Given the description of an element on the screen output the (x, y) to click on. 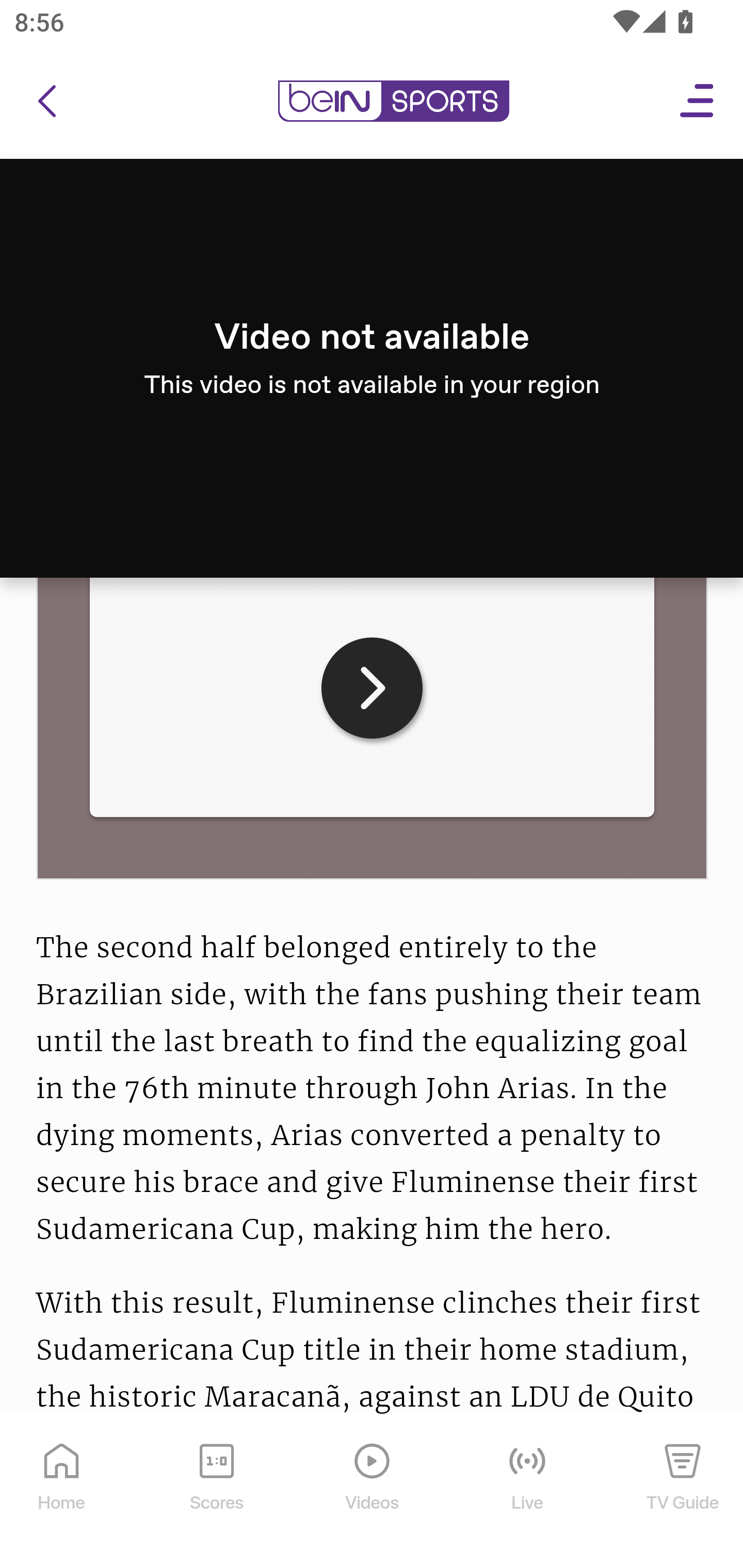
en-us?platform=mobile_android bein logo (392, 101)
icon back (46, 101)
Open Menu Icon (697, 101)
Home Home Icon Home (61, 1491)
Scores Scores Icon Scores (216, 1491)
Videos Videos Icon Videos (372, 1491)
TV Guide TV Guide Icon TV Guide (682, 1491)
